Given the description of an element on the screen output the (x, y) to click on. 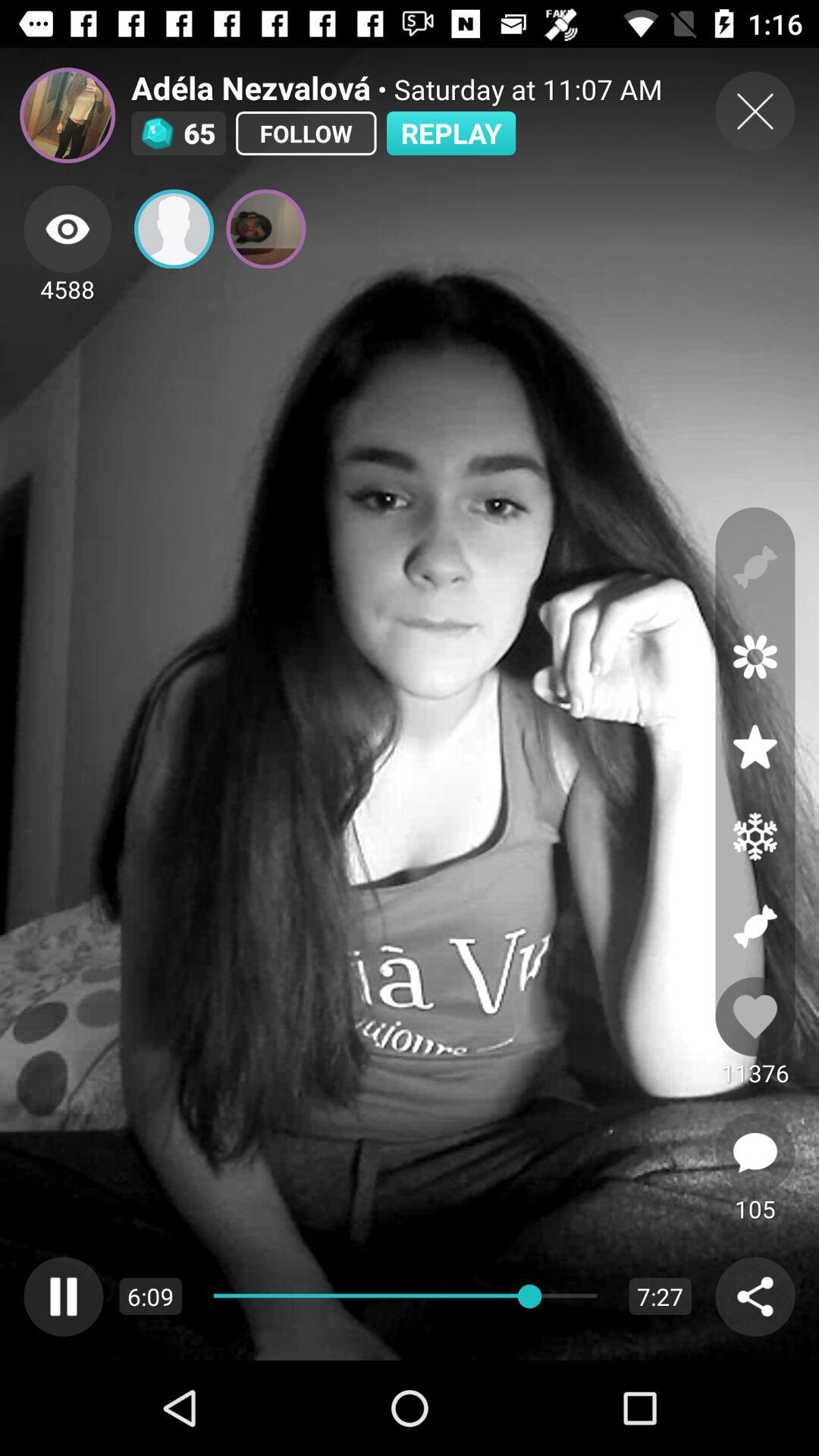
viewers (67, 229)
